Given the description of an element on the screen output the (x, y) to click on. 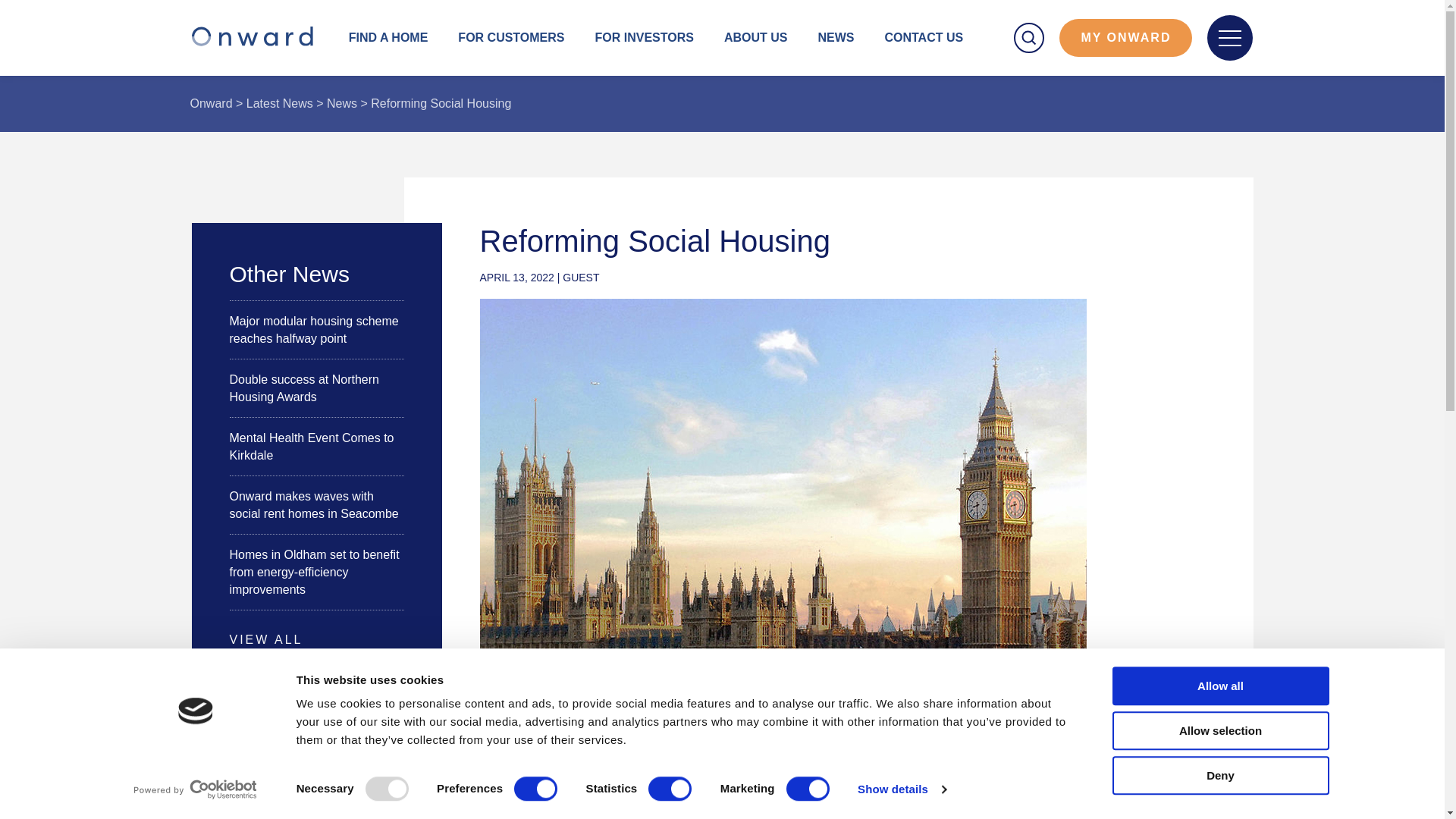
Go to the News Category archives. (341, 103)
Allow selection (1219, 730)
Deny (1219, 774)
Launch Recite Me assistive technology (107, 781)
Launch Recite Me assistive technology (70, 781)
Go to Onward. (210, 103)
Show details (900, 789)
Go to Latest News. (279, 103)
Allow all (1219, 685)
